Given the description of an element on the screen output the (x, y) to click on. 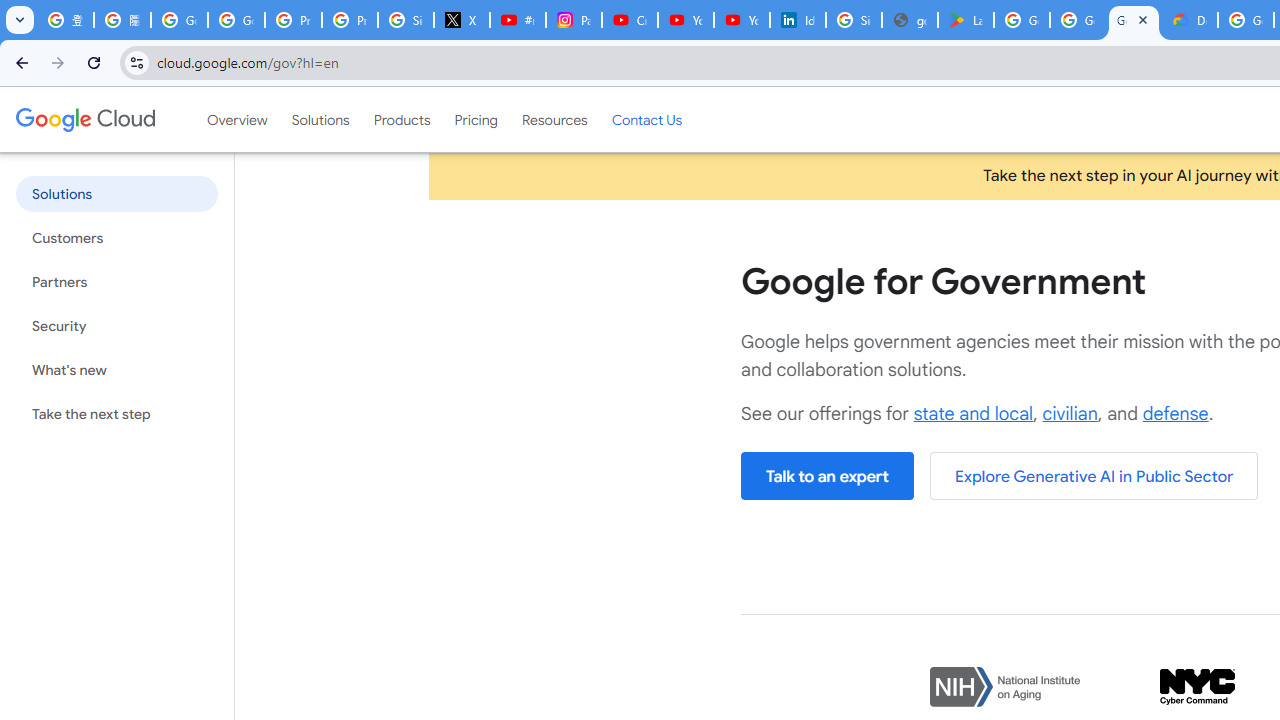
Contact Us (646, 119)
YouTube Culture & Trends - YouTube Top 10, 2021 (742, 20)
Customers (116, 238)
NYC (1197, 687)
Solutions (320, 119)
Privacy Help Center - Policies Help (349, 20)
Last Shelter: Survival - Apps on Google Play (966, 20)
Sign in - Google Accounts (853, 20)
Pricing (476, 119)
civilian (1069, 413)
defense (1175, 413)
